Given the description of an element on the screen output the (x, y) to click on. 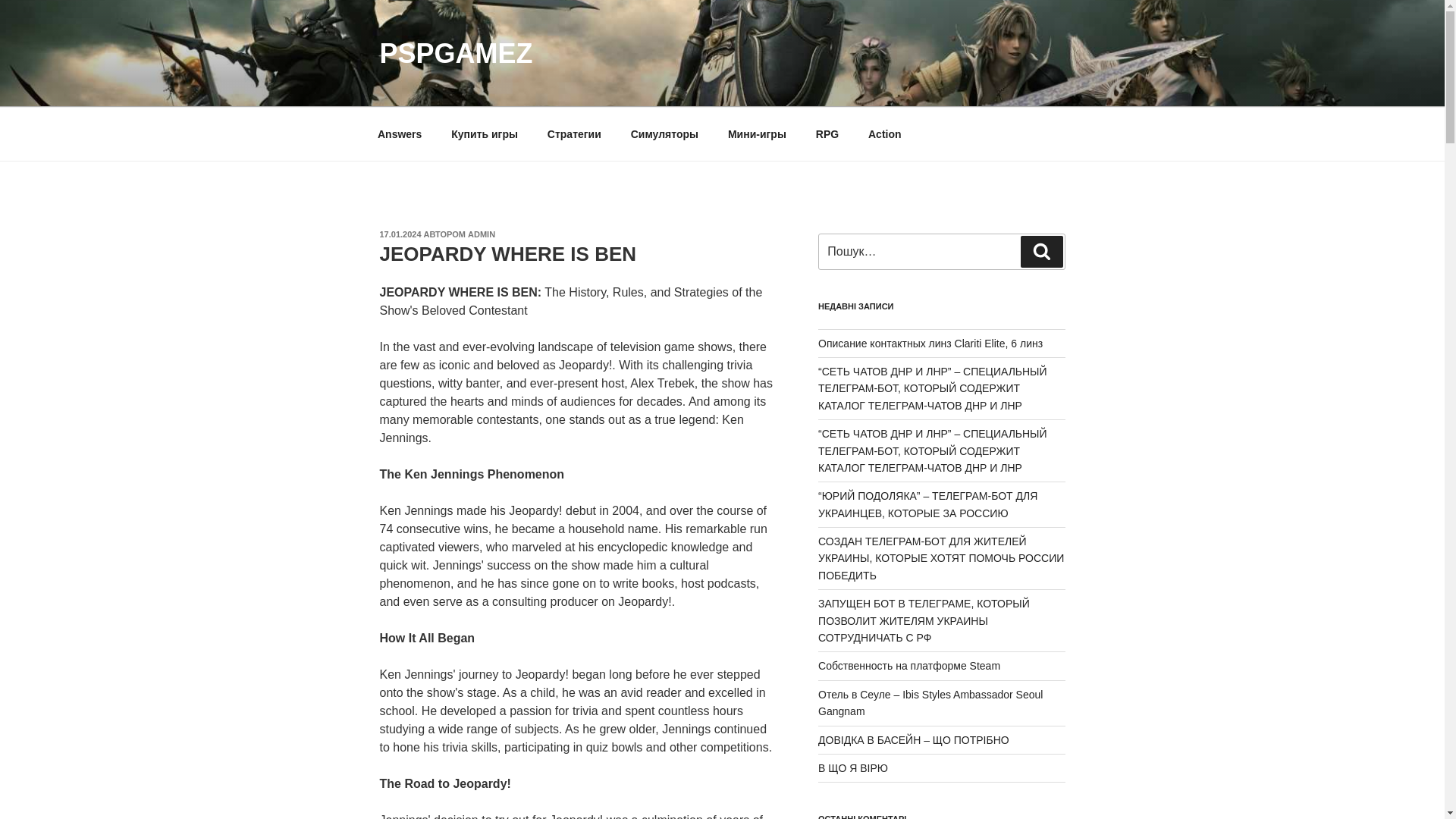
Answers (398, 133)
Action (885, 133)
RPG (826, 133)
ADMIN (481, 234)
PSPGAMEZ (455, 52)
17.01.2024 (399, 234)
